Given the description of an element on the screen output the (x, y) to click on. 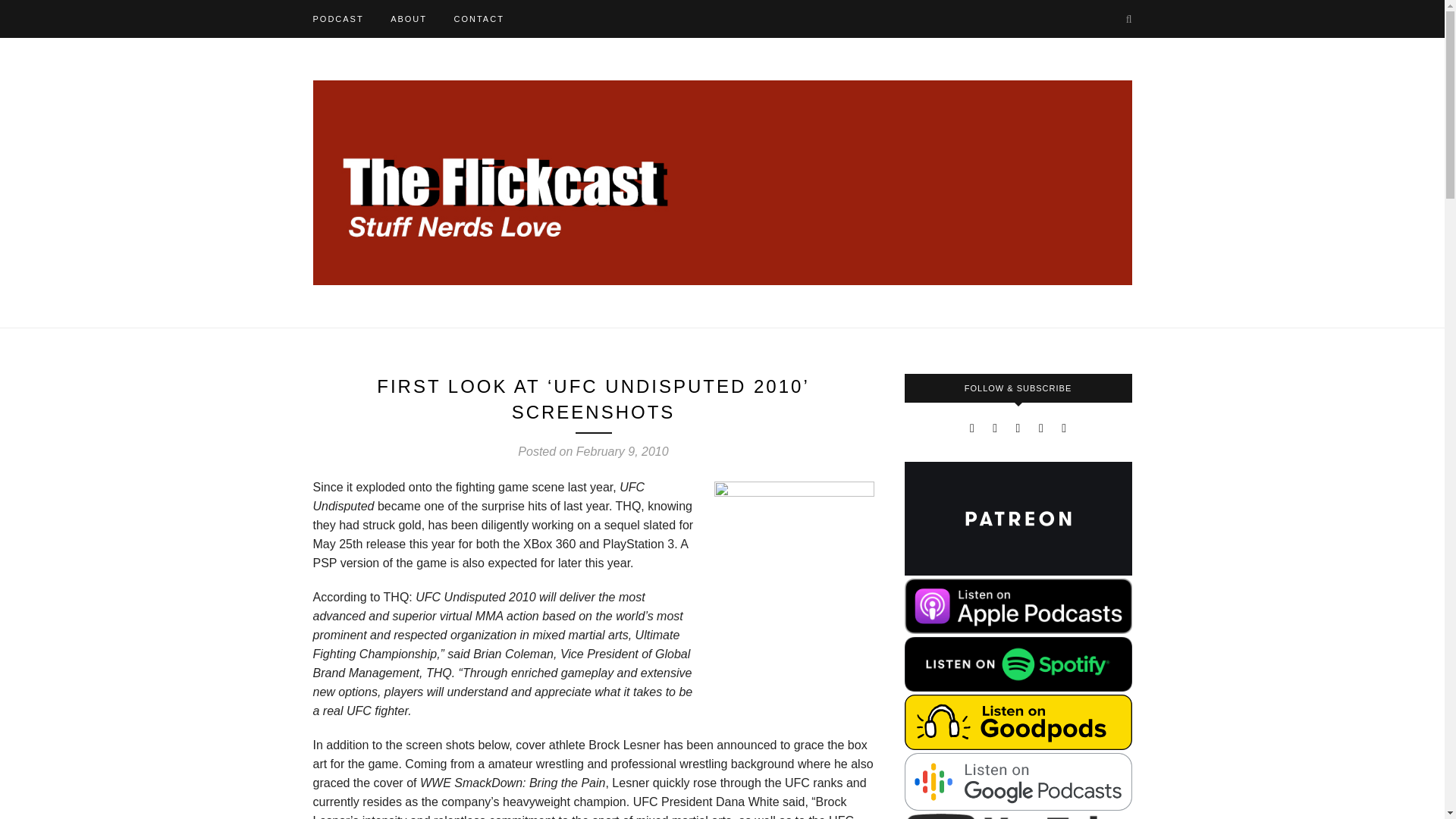
CONTACT (477, 18)
PODCAST (337, 18)
ABOUT (408, 18)
